Given the description of an element on the screen output the (x, y) to click on. 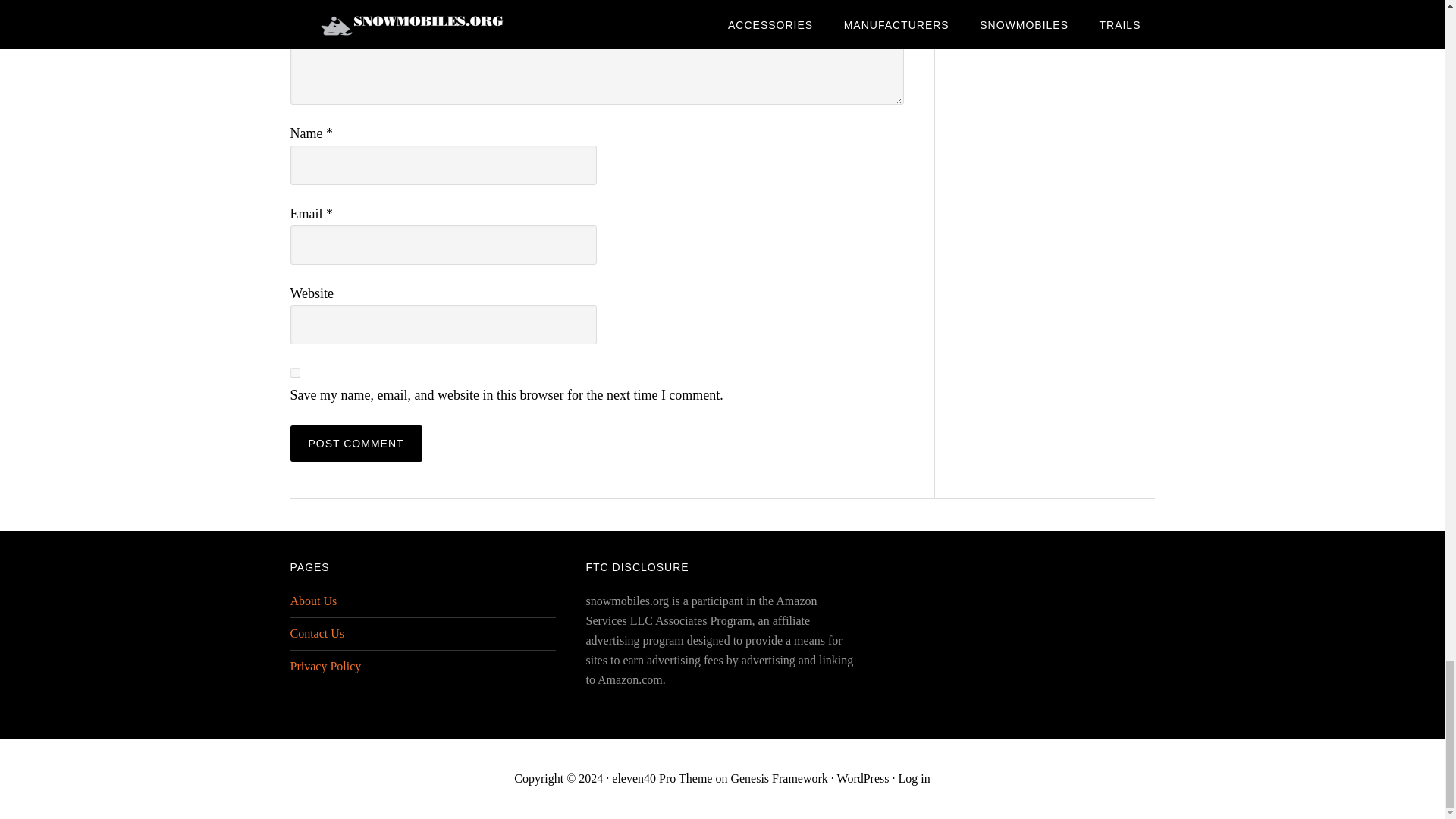
Post Comment (355, 443)
About Us (312, 600)
yes (294, 372)
Post Comment (355, 443)
Contact Us (316, 633)
